Given the description of an element on the screen output the (x, y) to click on. 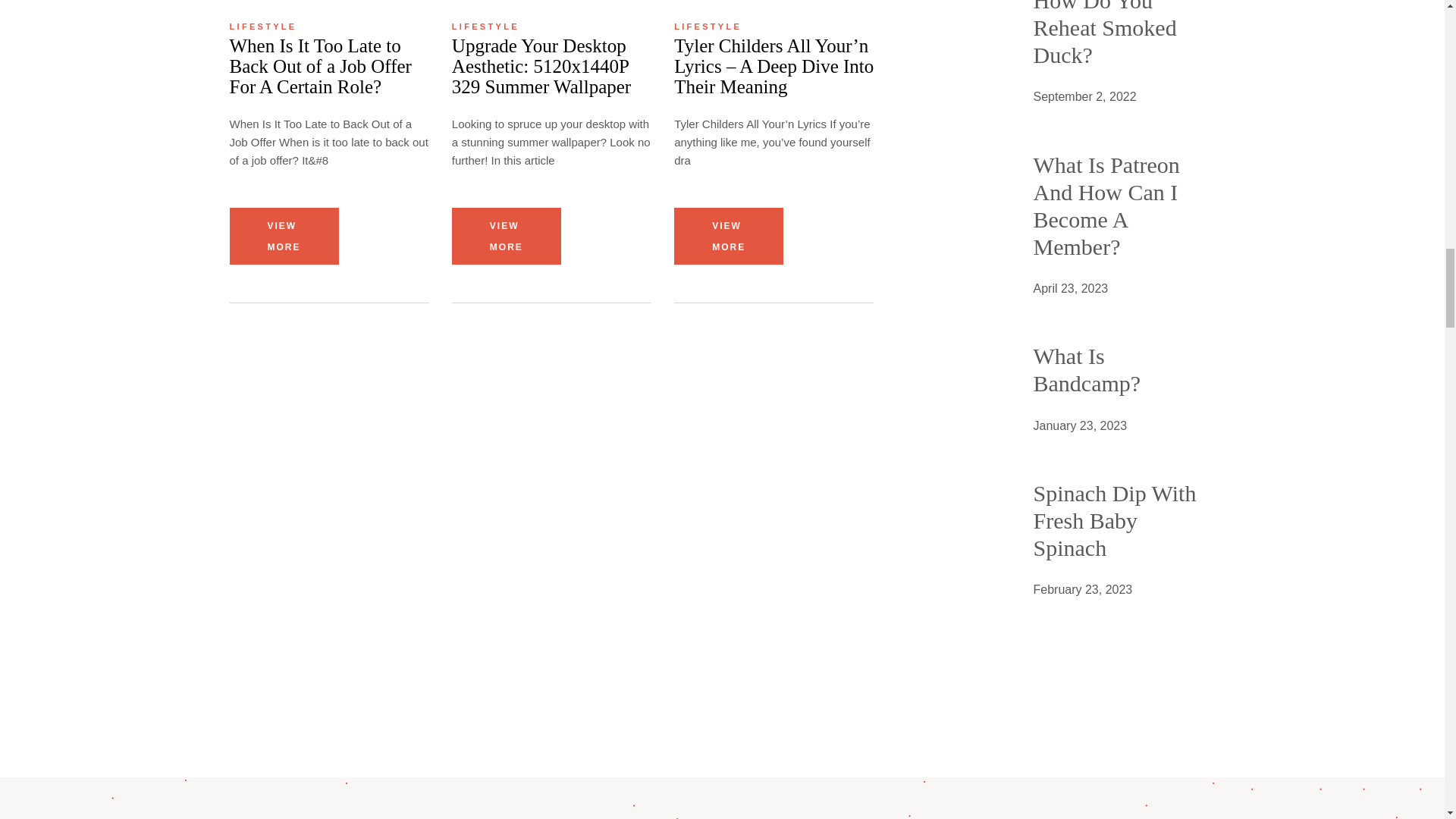
Title Text:  (1079, 425)
LIFESTYLE (262, 27)
Title Text:  (1070, 288)
Title Text:  (1083, 96)
Title Text:  (1082, 589)
